Given the description of an element on the screen output the (x, y) to click on. 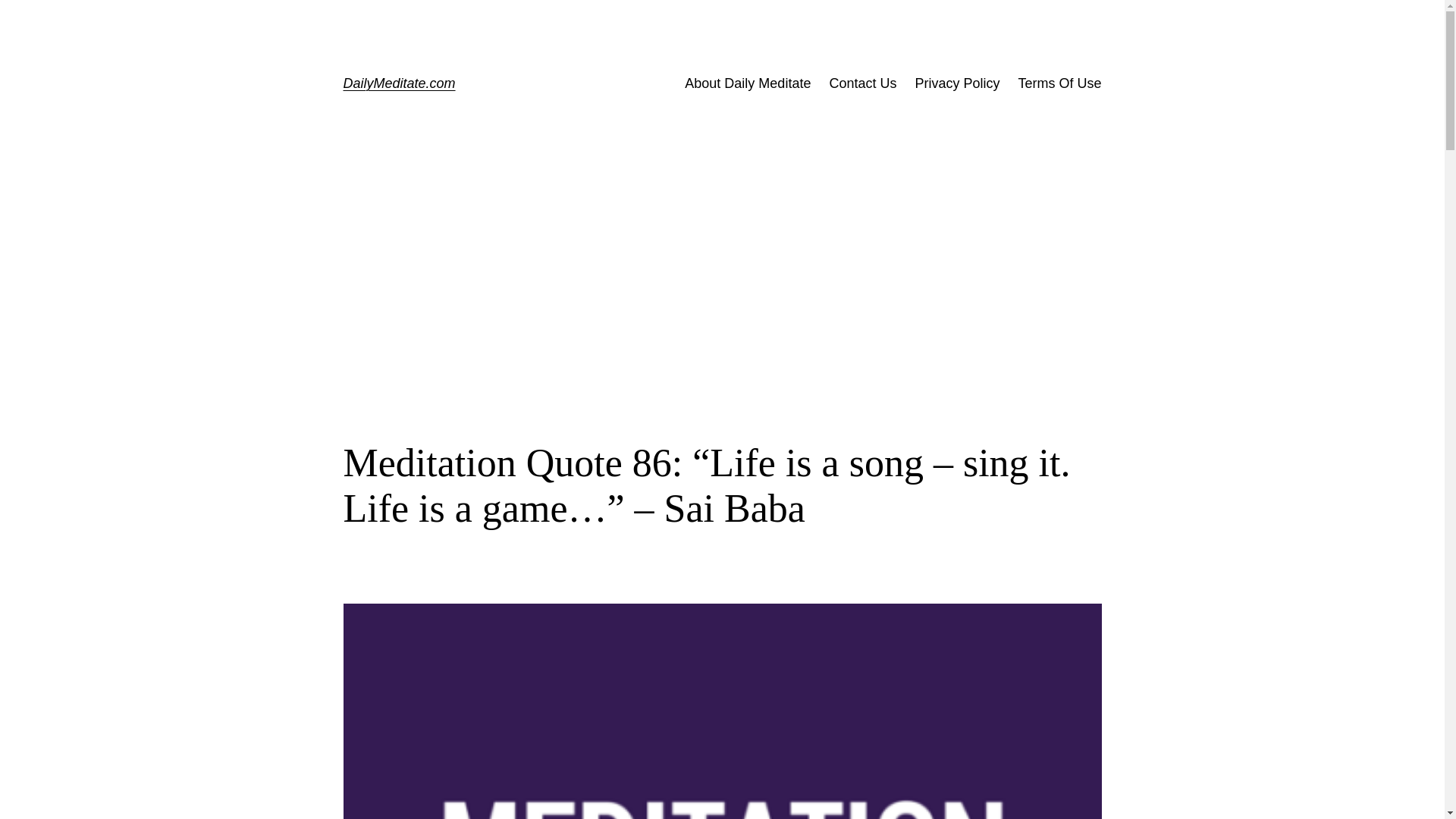
DailyMeditate.com (398, 83)
About Daily Meditate (747, 83)
Contact Us (862, 83)
Terms Of Use (1058, 83)
Privacy Policy (956, 83)
